Given the description of an element on the screen output the (x, y) to click on. 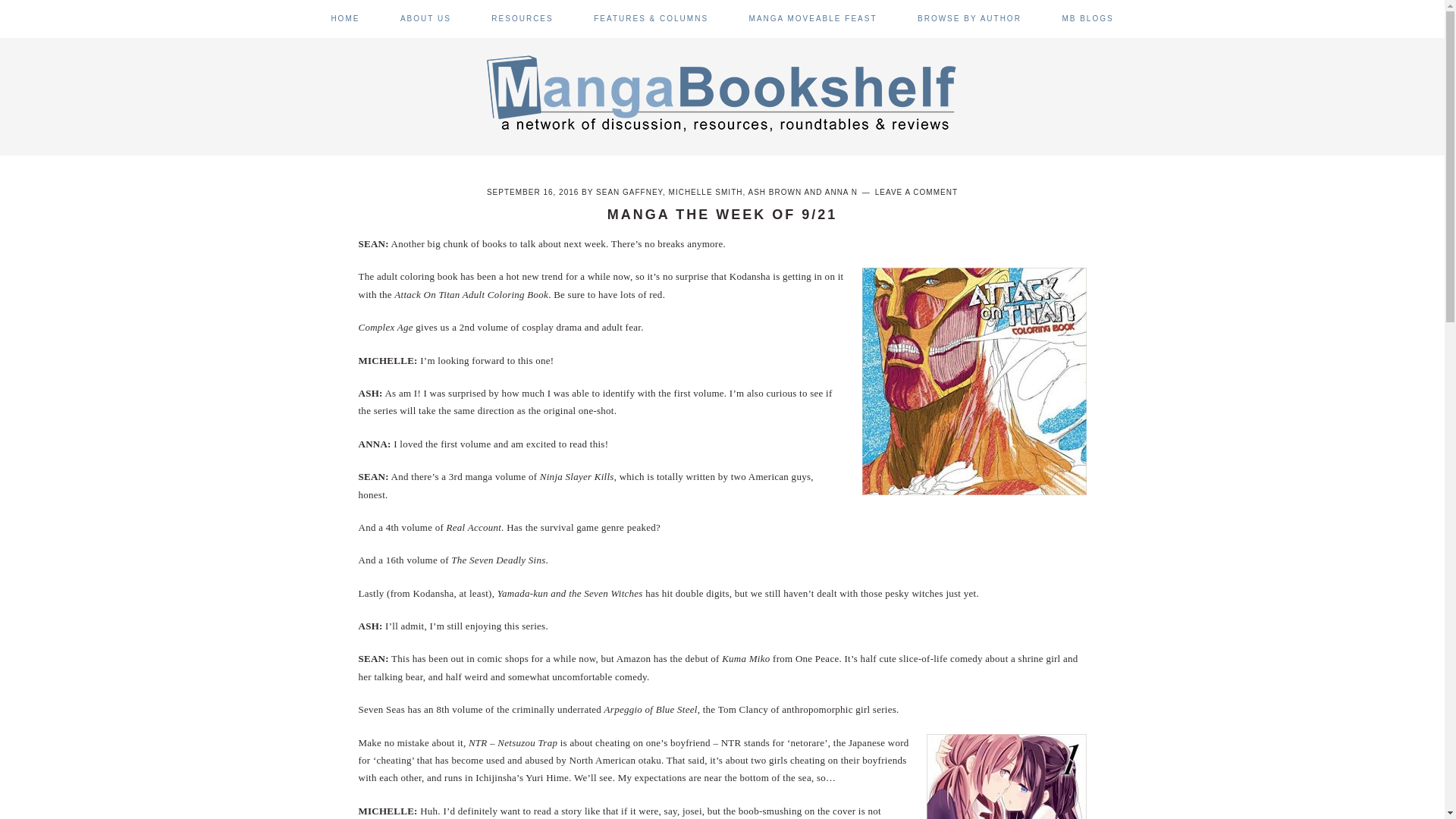
HOME (344, 18)
RESOURCES (521, 18)
ABOUT US (425, 18)
Posts by Sean Gaffney (628, 192)
Posts by Michelle Smith (705, 192)
Posts by Ash Brown (775, 192)
Posts by Anna N (841, 192)
MANGA MOVEABLE FEAST (813, 18)
